Given the description of an element on the screen output the (x, y) to click on. 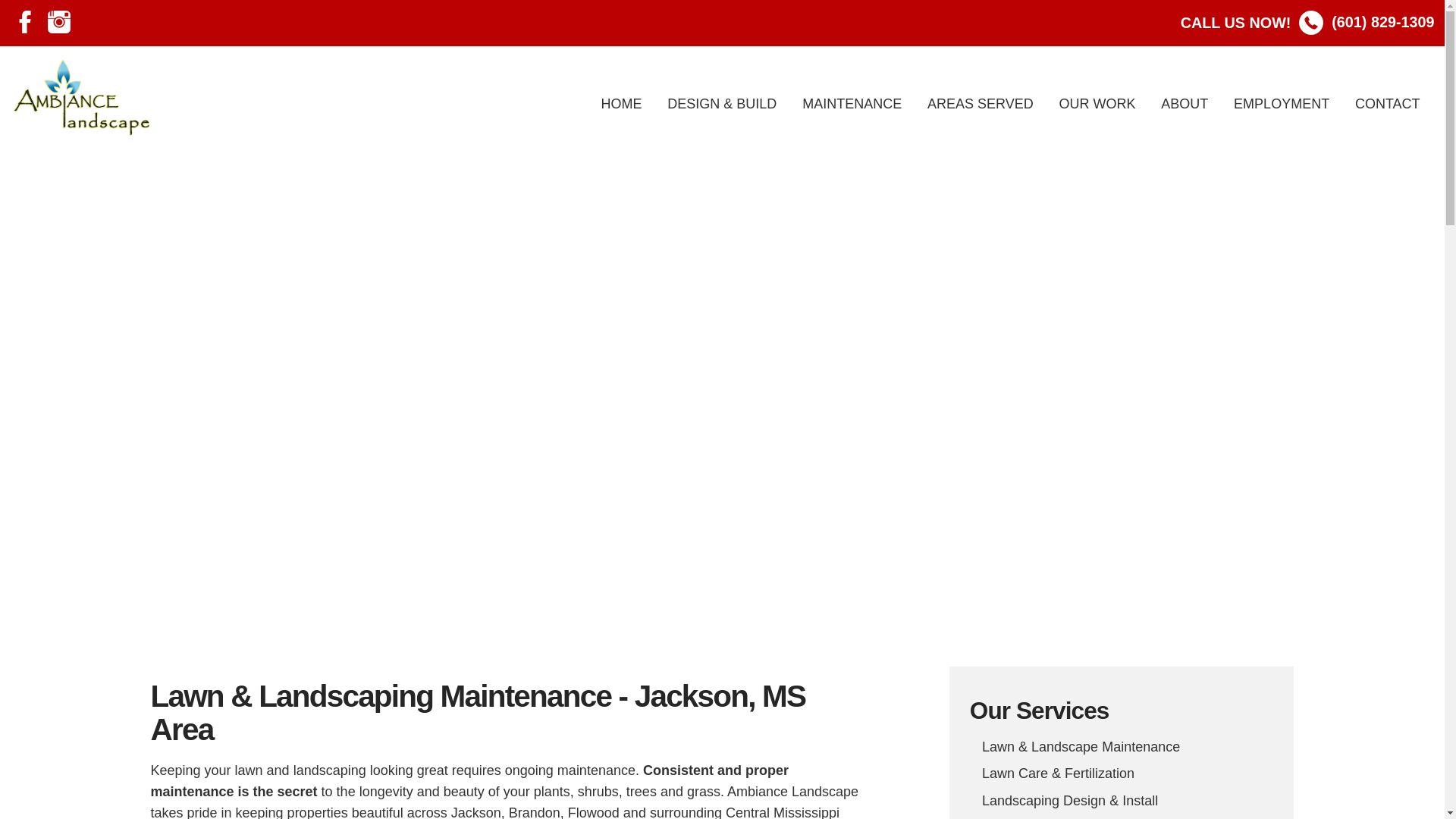
EMPLOYMENT (1281, 103)
ABOUT (1185, 103)
MAINTENANCE (852, 103)
OUR WORK (1097, 103)
HOME (620, 103)
AREAS SERVED (981, 103)
CONTACT (1387, 103)
REQUEST PRICING (721, 452)
